Given the description of an element on the screen output the (x, y) to click on. 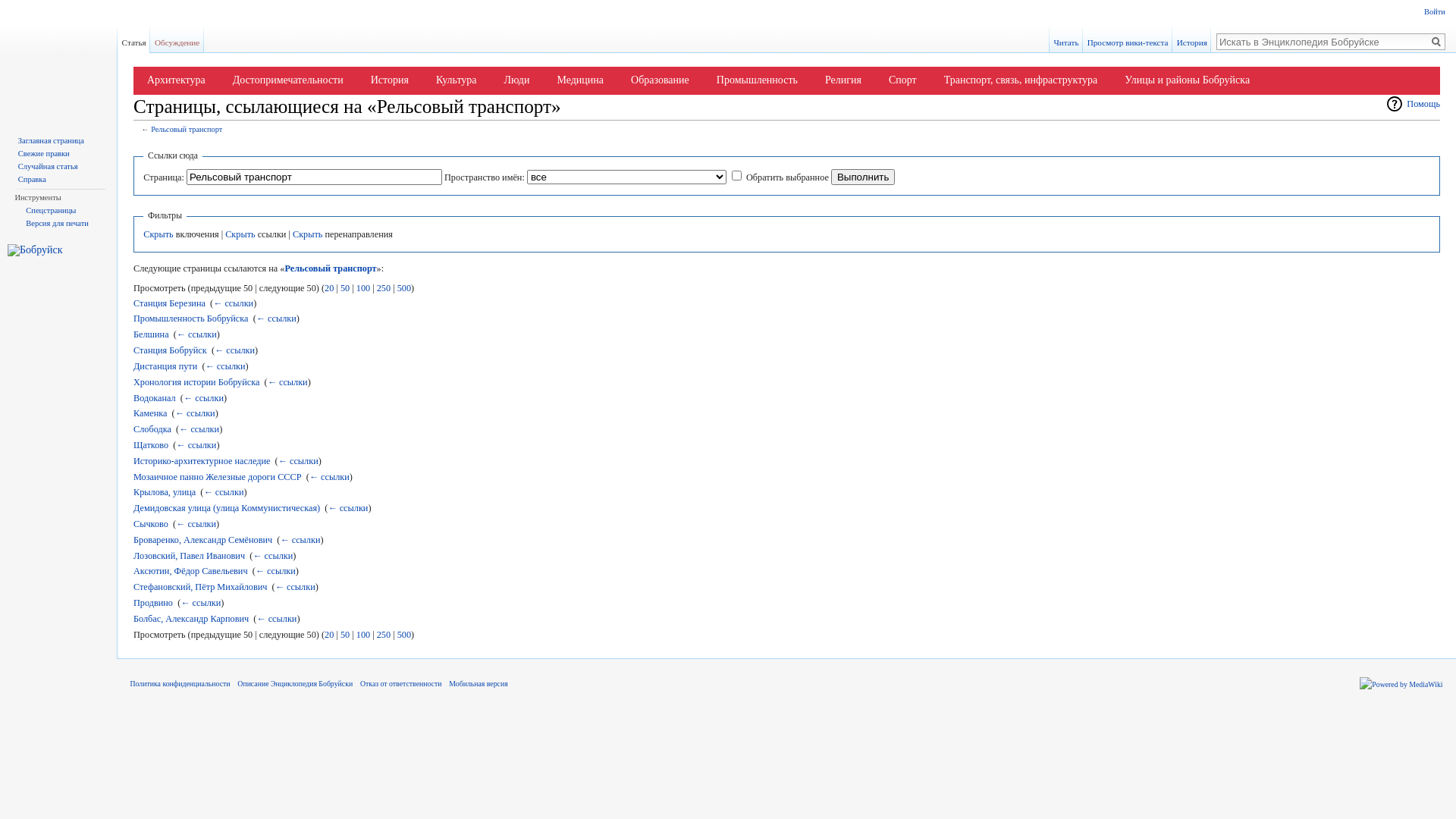
250 Element type: text (383, 287)
500 Element type: text (404, 287)
50 Element type: text (344, 634)
100 Element type: text (363, 634)
100 Element type: text (363, 287)
50 Element type: text (344, 287)
20 Element type: text (328, 287)
20 Element type: text (328, 634)
500 Element type: text (404, 634)
250 Element type: text (383, 634)
